Given the description of an element on the screen output the (x, y) to click on. 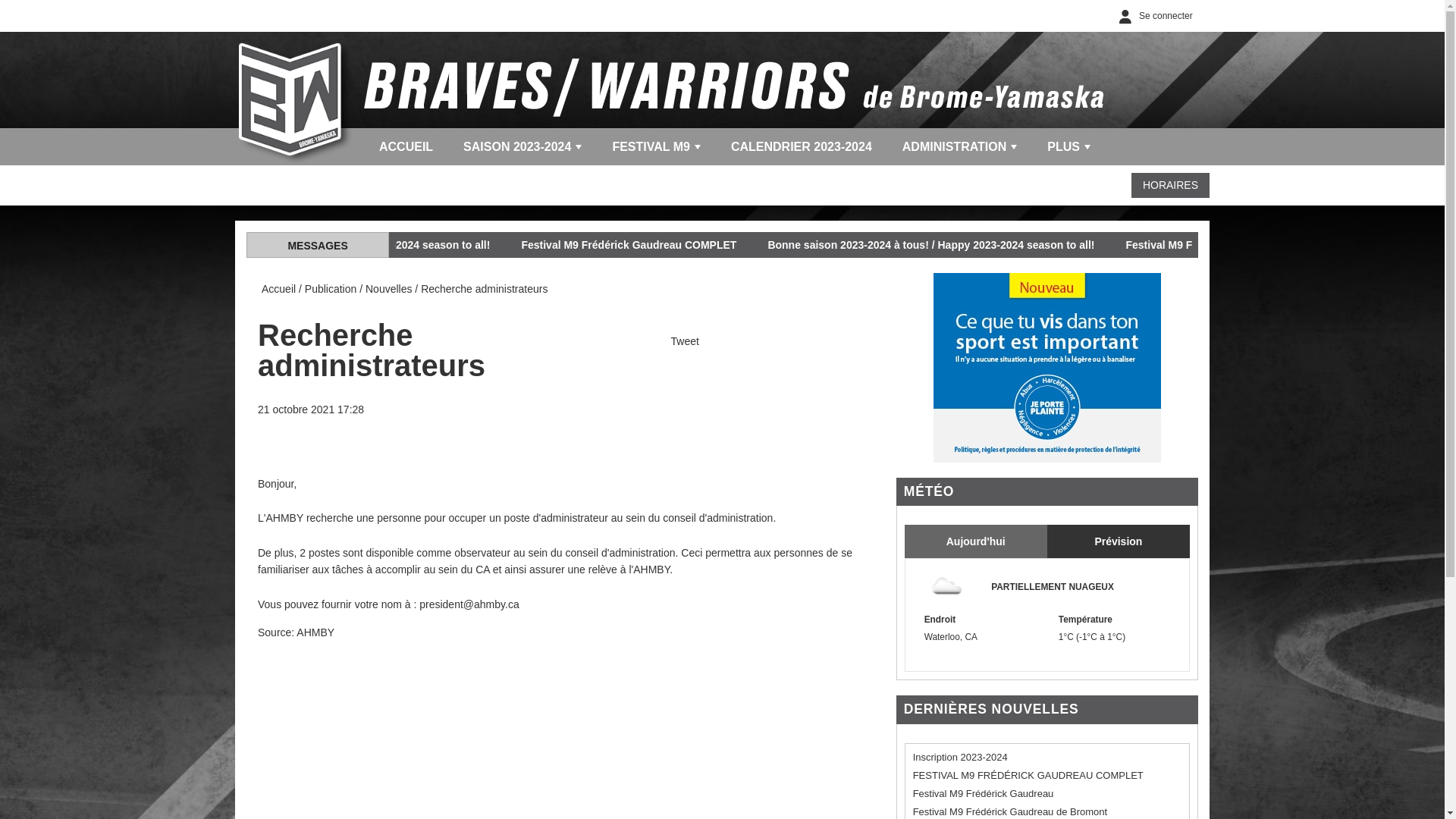
PLUS Element type: text (1068, 146)
Inscription 2023-2024 Element type: text (960, 756)
Nouvelles Element type: text (388, 288)
Se connecter Element type: text (1152, 15)
SAISON 2023-2024 Element type: text (522, 146)
Accueil Element type: text (278, 288)
ADMINISTRATION Element type: text (959, 146)
ACCUEIL Element type: text (406, 146)
Tweet Element type: text (685, 341)
HORAIRES Element type: text (1170, 184)
CALENDRIER 2023-2024 Element type: text (801, 146)
Publication Element type: text (330, 288)
Aujourd'Hui Element type: text (975, 541)
FESTIVAL M9 Element type: text (655, 146)
